Given the description of an element on the screen output the (x, y) to click on. 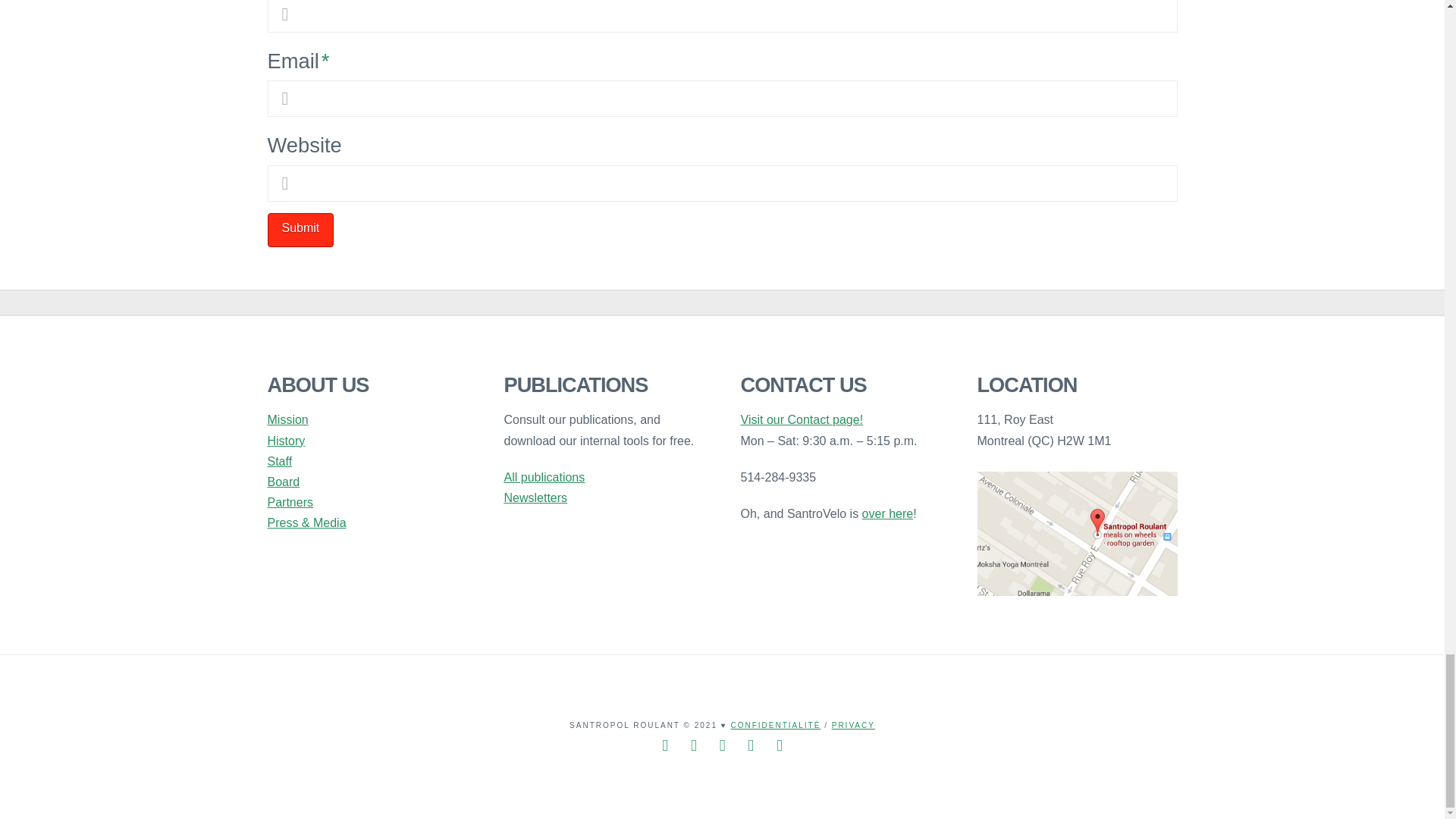
Facebook (665, 745)
Submit (299, 229)
YouTube (751, 745)
LinkedIn (722, 745)
Instagram (779, 745)
Twitter (693, 745)
